Given the description of an element on the screen output the (x, y) to click on. 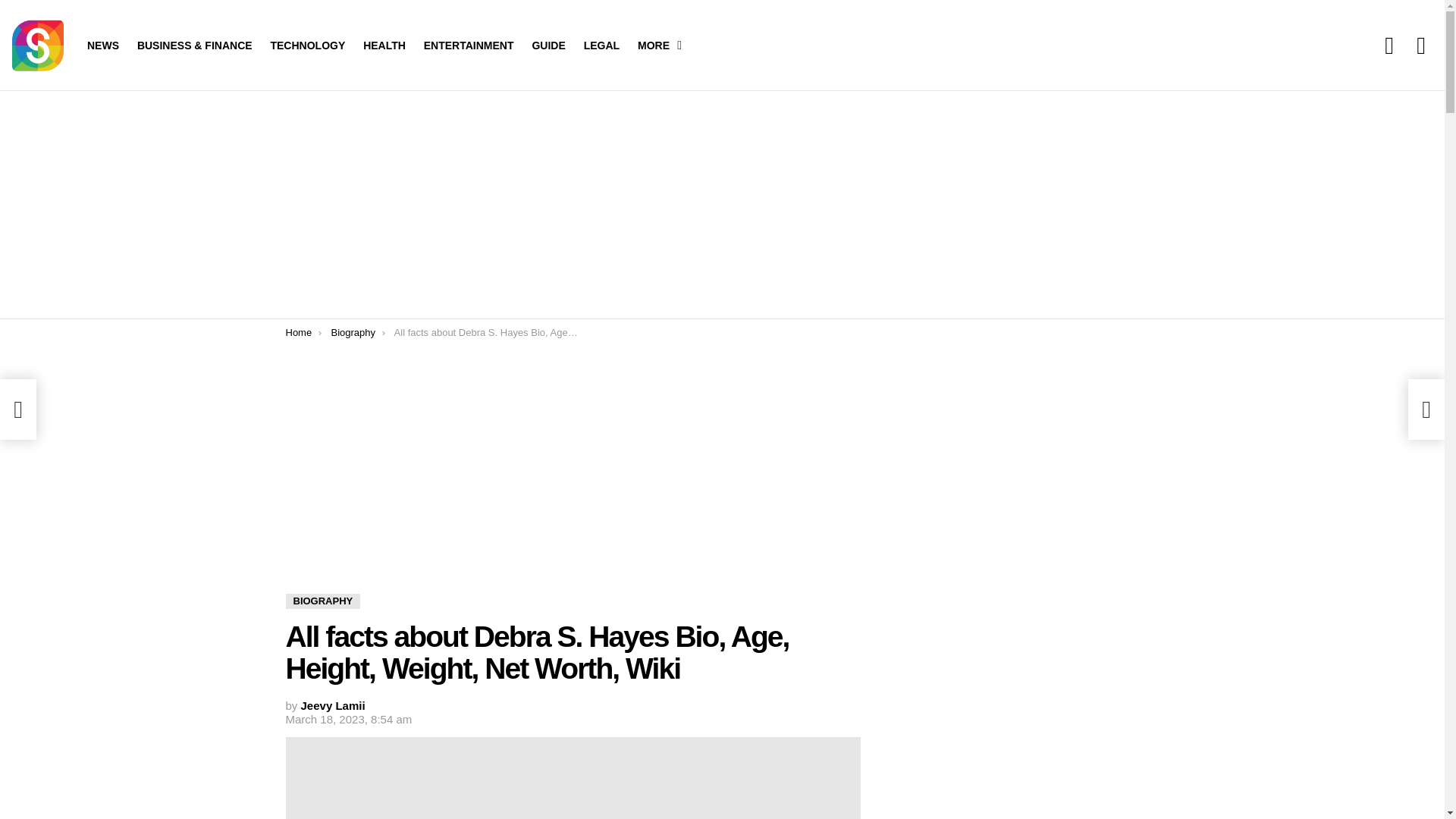
LEGAL (601, 45)
MORE (655, 45)
TECHNOLOGY (307, 45)
BIOGRAPHY (322, 601)
Home (298, 332)
Biography (352, 332)
Posts by Jeevy Lamii (333, 705)
ENTERTAINMENT (468, 45)
HEALTH (384, 45)
